Given the description of an element on the screen output the (x, y) to click on. 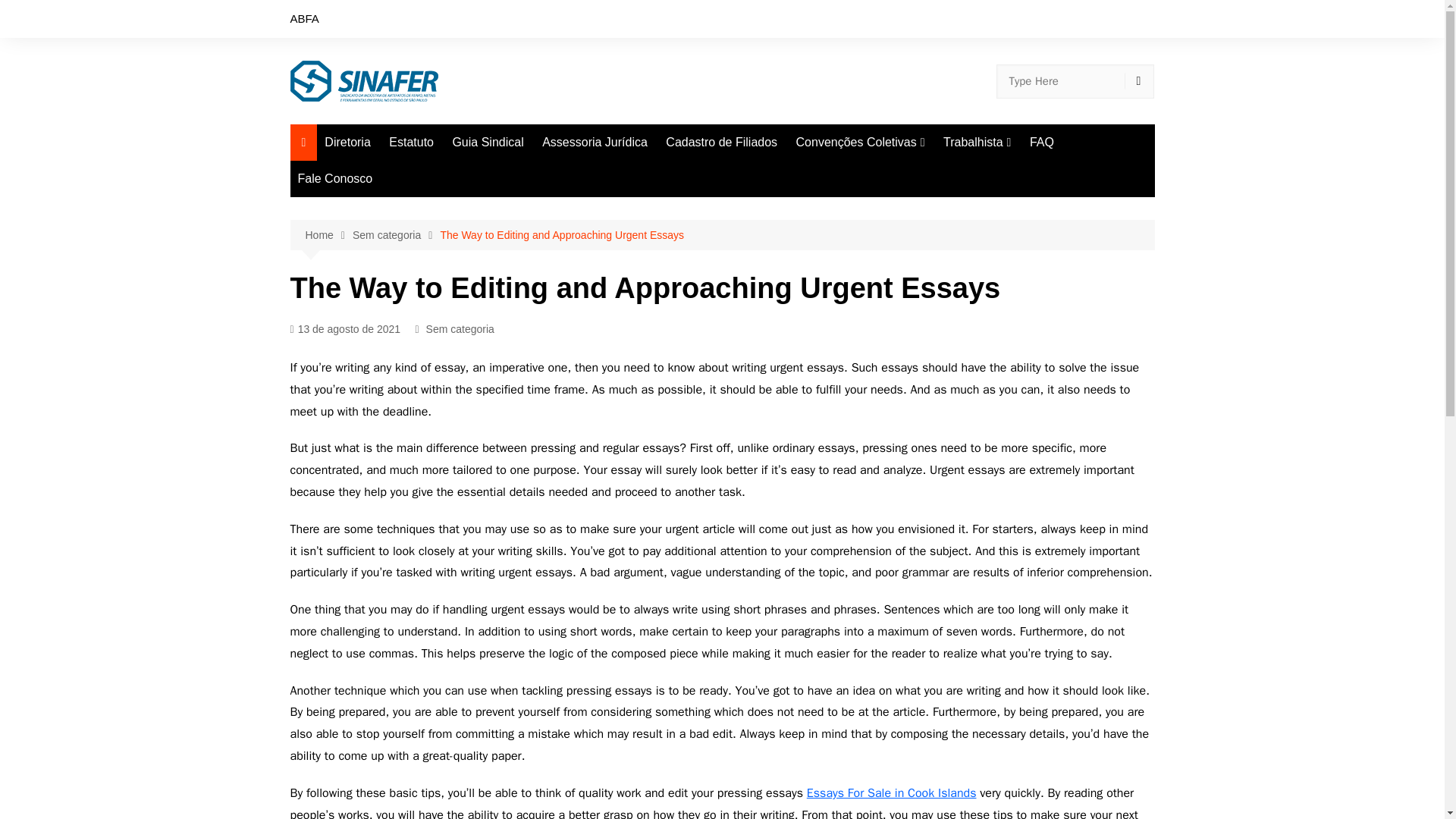
Home (328, 235)
13 de agosto de 2021 (344, 329)
Sem categoria (395, 235)
ABFA (303, 18)
Sem categoria (460, 329)
Estatuto (411, 142)
Cadastro de Filiados (721, 142)
FAQ (1041, 142)
Frente Sind Pop Soc (872, 248)
Essays For Sale in Cook Islands (891, 792)
Fale Conosco (334, 178)
FEM CUT (872, 197)
Guia Sindical (487, 142)
Trabalhista (976, 142)
Intersindical (872, 298)
